Given the description of an element on the screen output the (x, y) to click on. 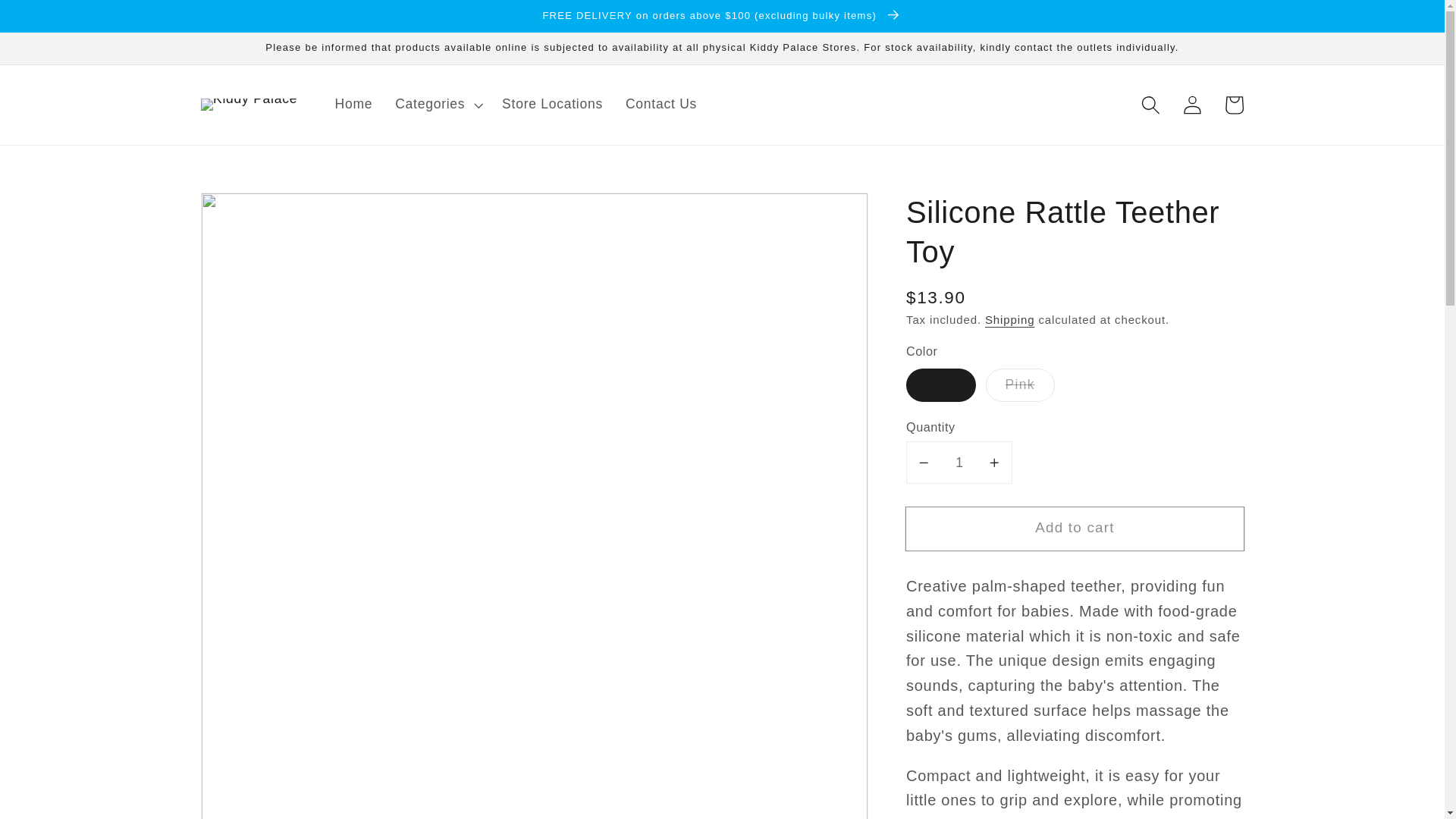
1 (958, 462)
Skip to content (56, 20)
